Given the description of an element on the screen output the (x, y) to click on. 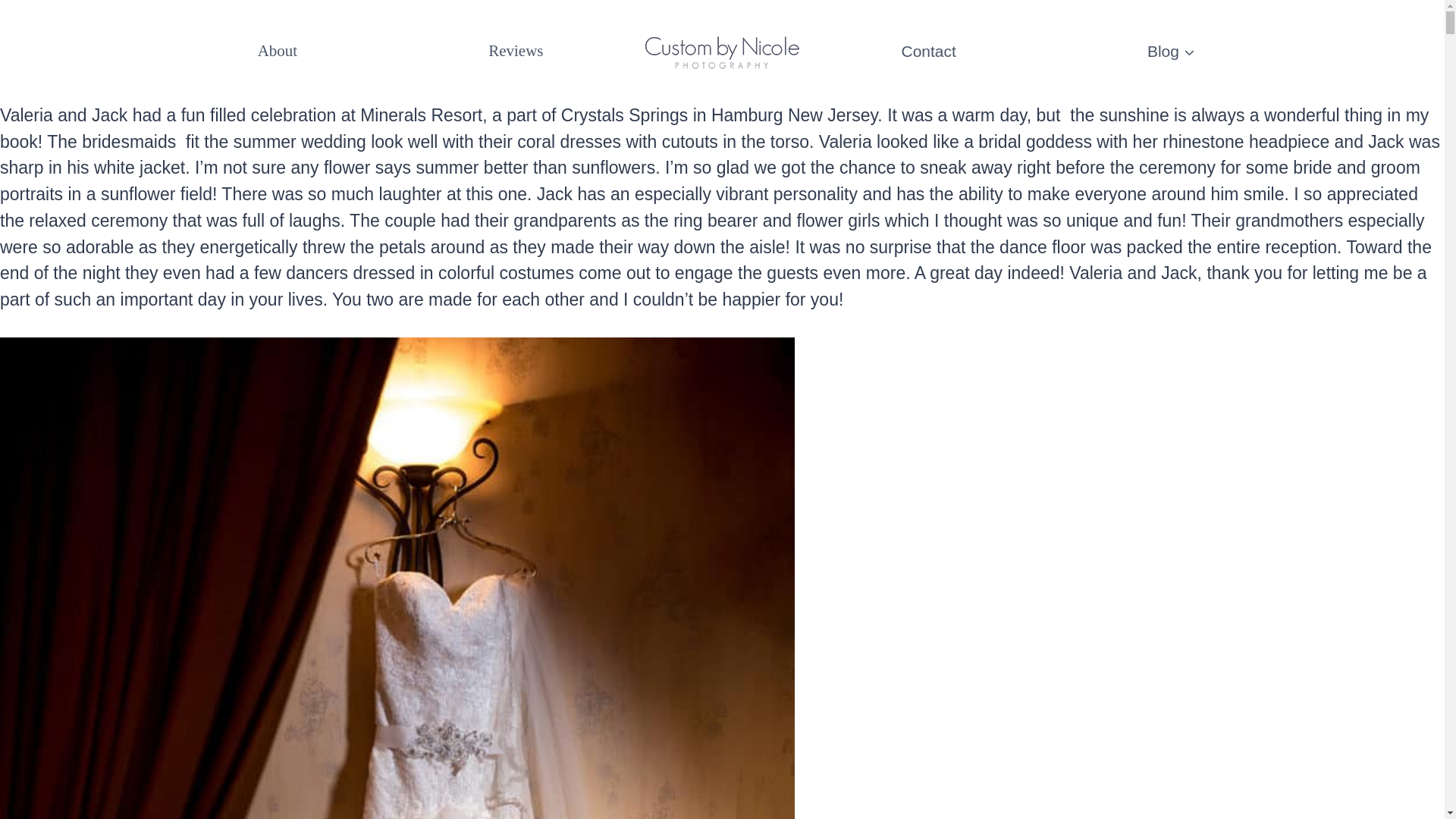
Contact (928, 50)
About (277, 51)
Reviews (516, 51)
Blog (1170, 50)
